Given the description of an element on the screen output the (x, y) to click on. 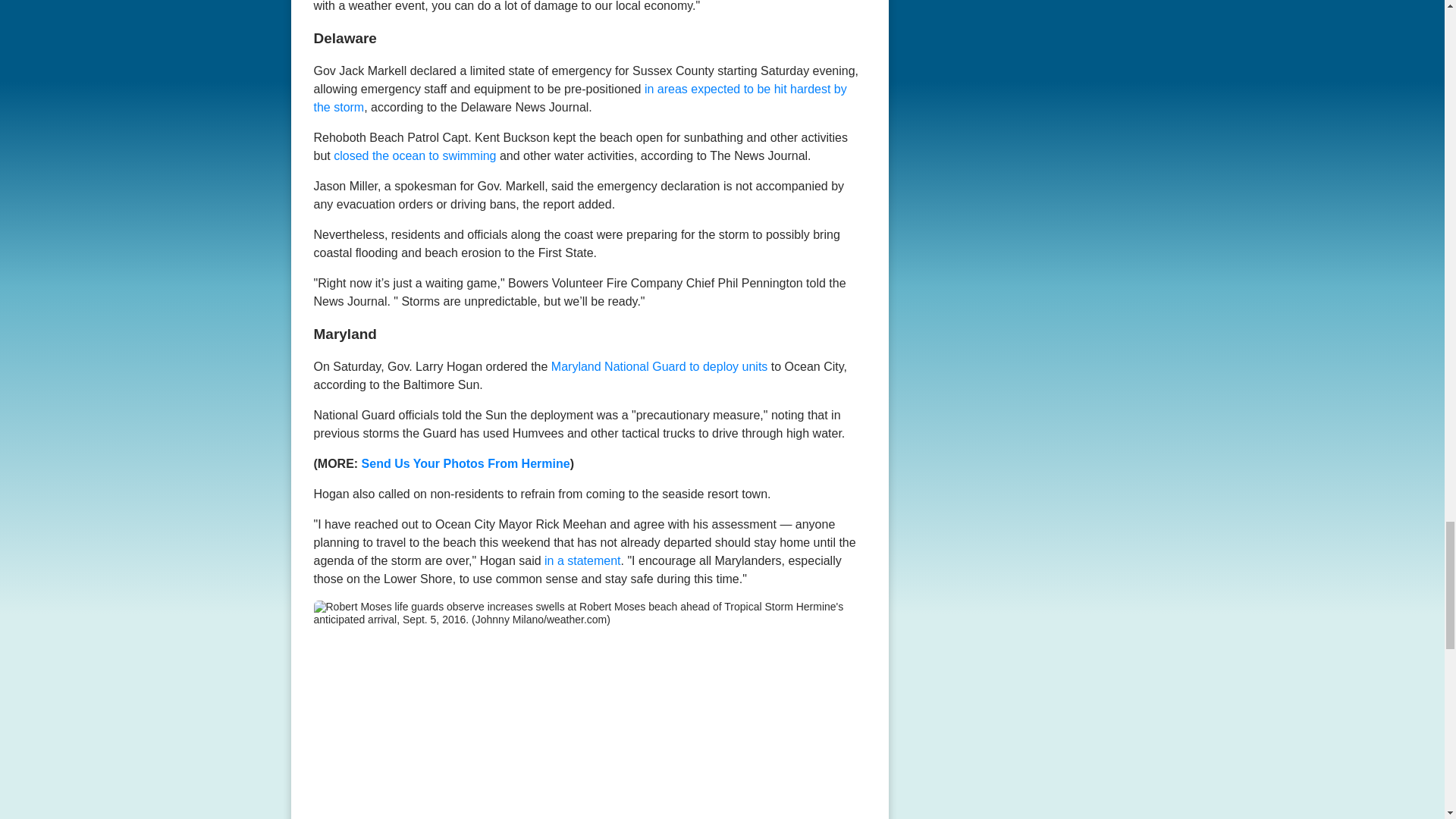
in a statement (582, 559)
in areas expected to be hit hardest by the storm (580, 97)
Send Us Your Photos From Hermine (465, 462)
Maryland National Guard to deploy units (659, 365)
closed the ocean to swimming (414, 155)
